Given the description of an element on the screen output the (x, y) to click on. 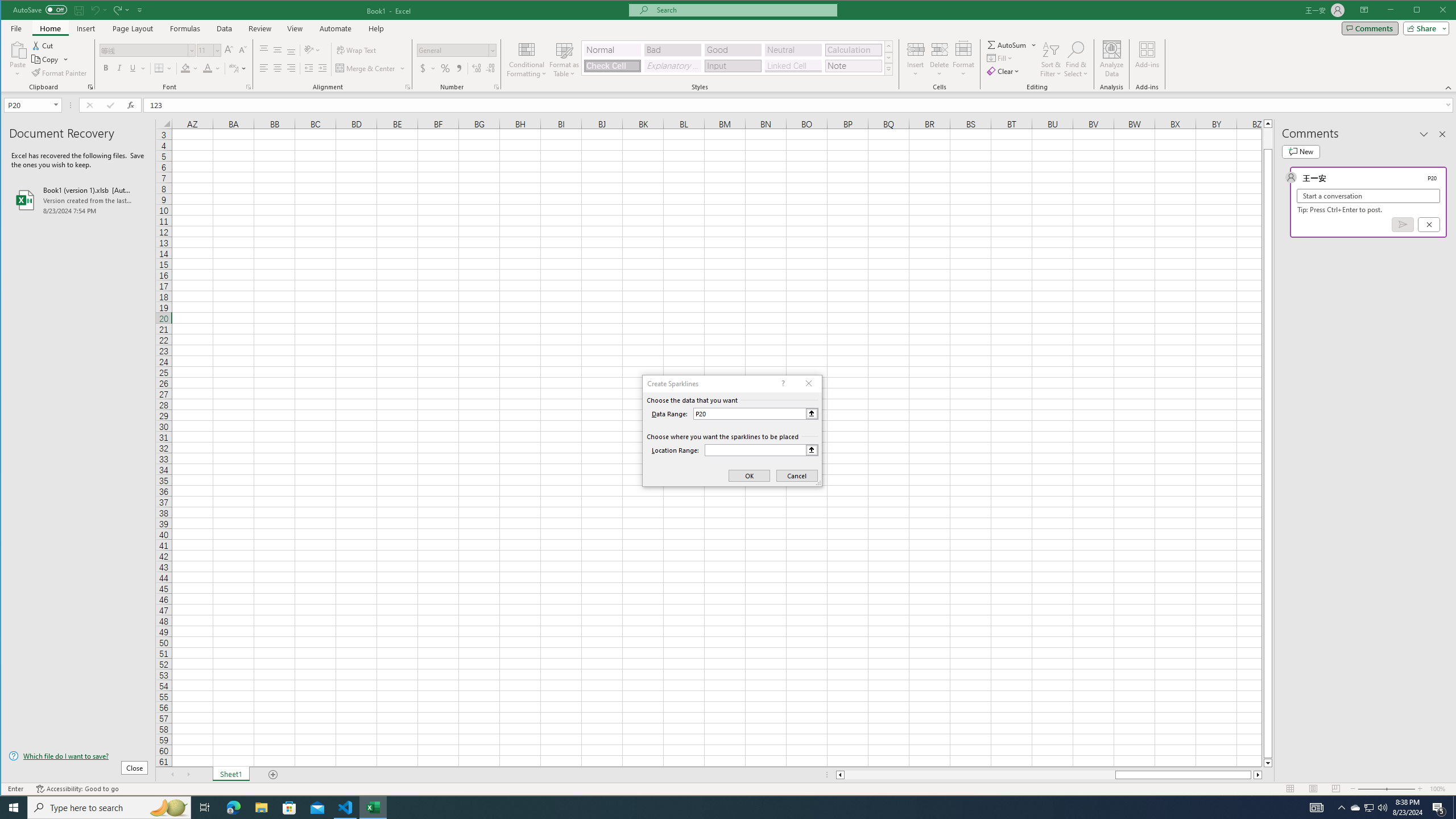
Accounting Number Format (422, 68)
Font Color RGB(255, 0, 0) (207, 68)
Increase Font Size (228, 49)
Percent Style (445, 68)
Middle Align (276, 49)
Good (732, 49)
Linked Cell (793, 65)
